Given the description of an element on the screen output the (x, y) to click on. 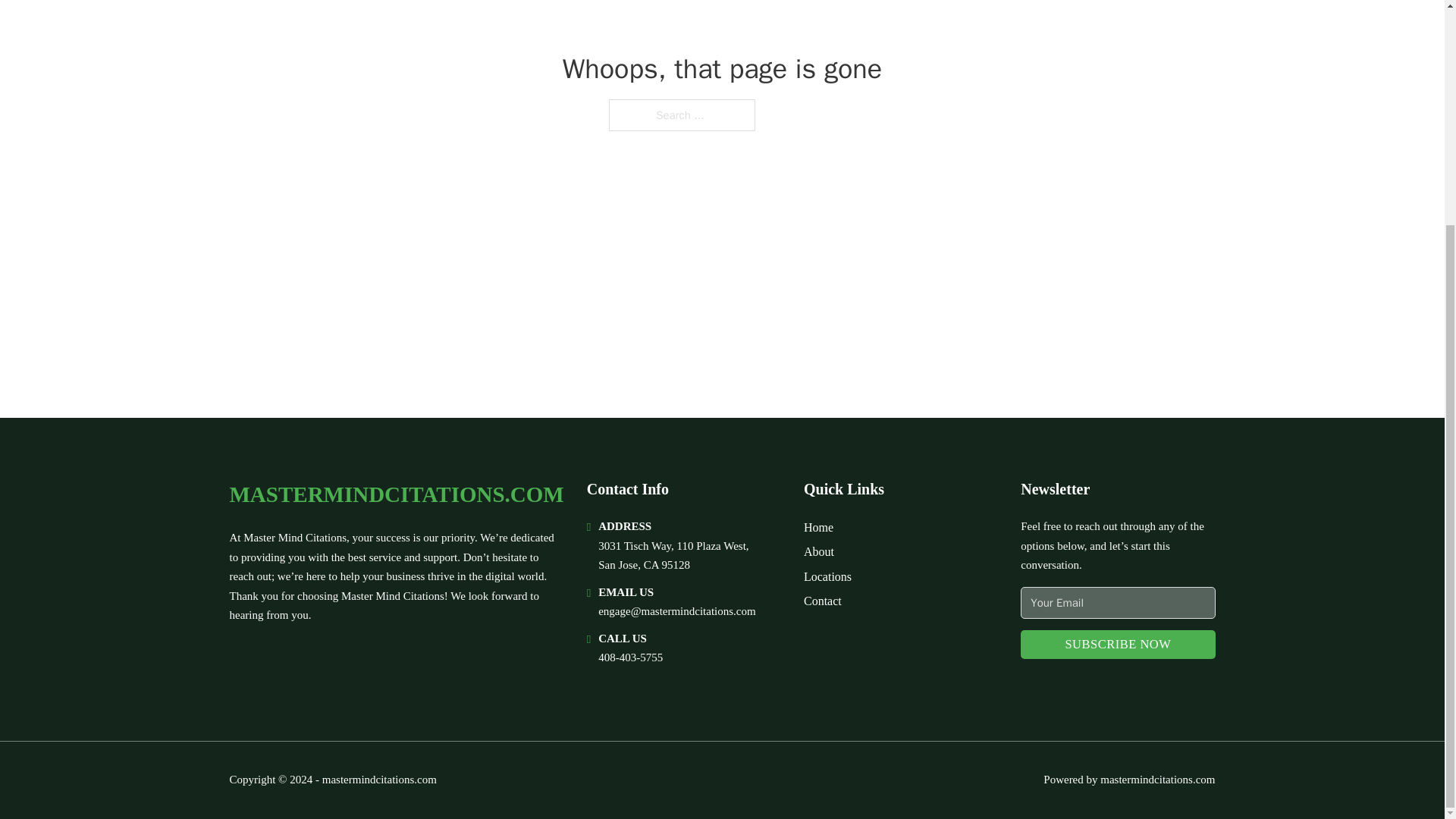
About (818, 551)
SUBSCRIBE NOW (1117, 644)
408-403-5755 (630, 657)
Home (817, 526)
Contact (822, 600)
MASTERMINDCITATIONS.COM (395, 494)
Locations (827, 576)
